Given the description of an element on the screen output the (x, y) to click on. 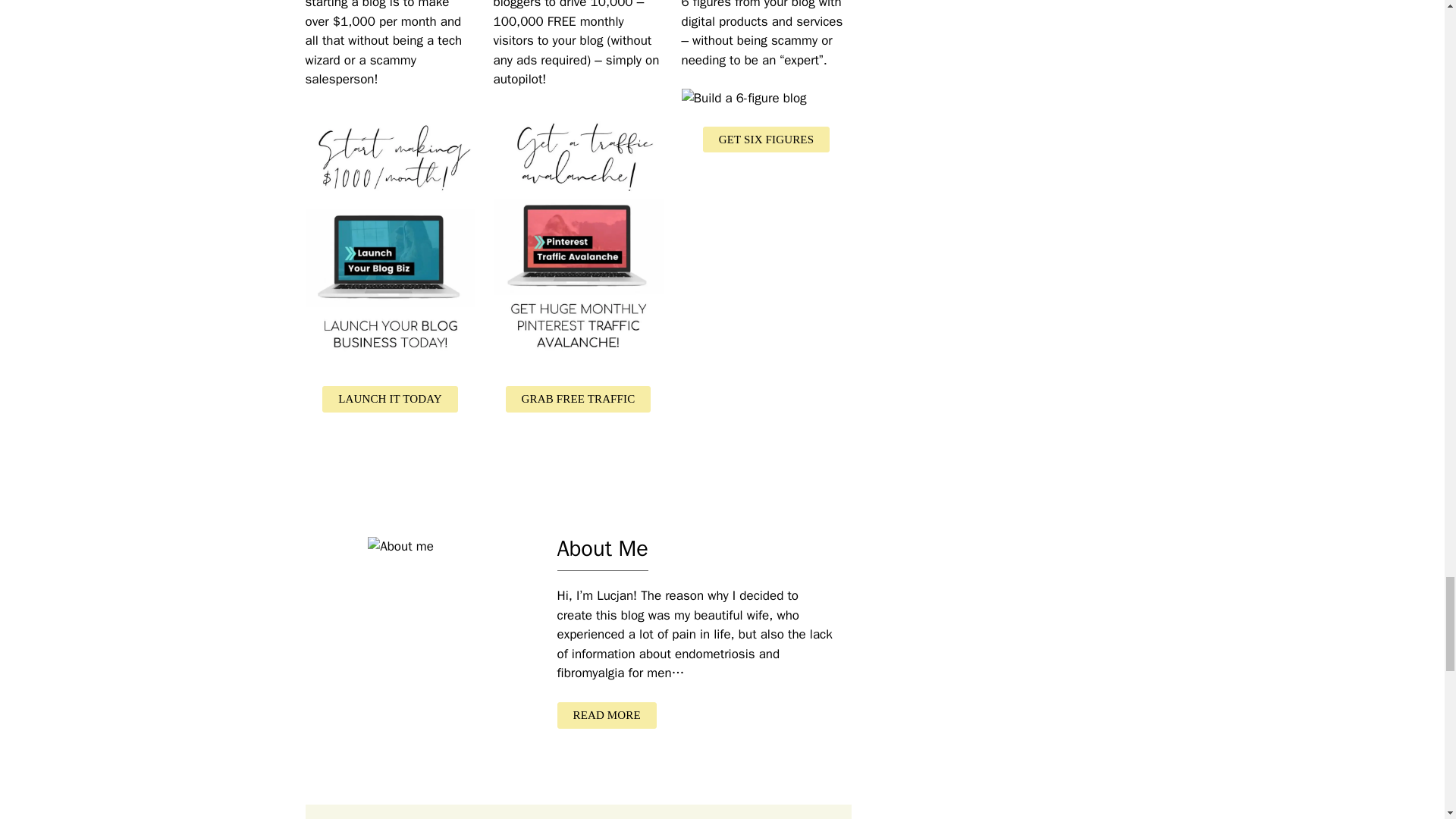
LAUNCH IT TODAY (389, 398)
GRAB FREE TRAFFIC (577, 398)
GET SIX FIGURES (766, 139)
READ MORE (606, 714)
